Given the description of an element on the screen output the (x, y) to click on. 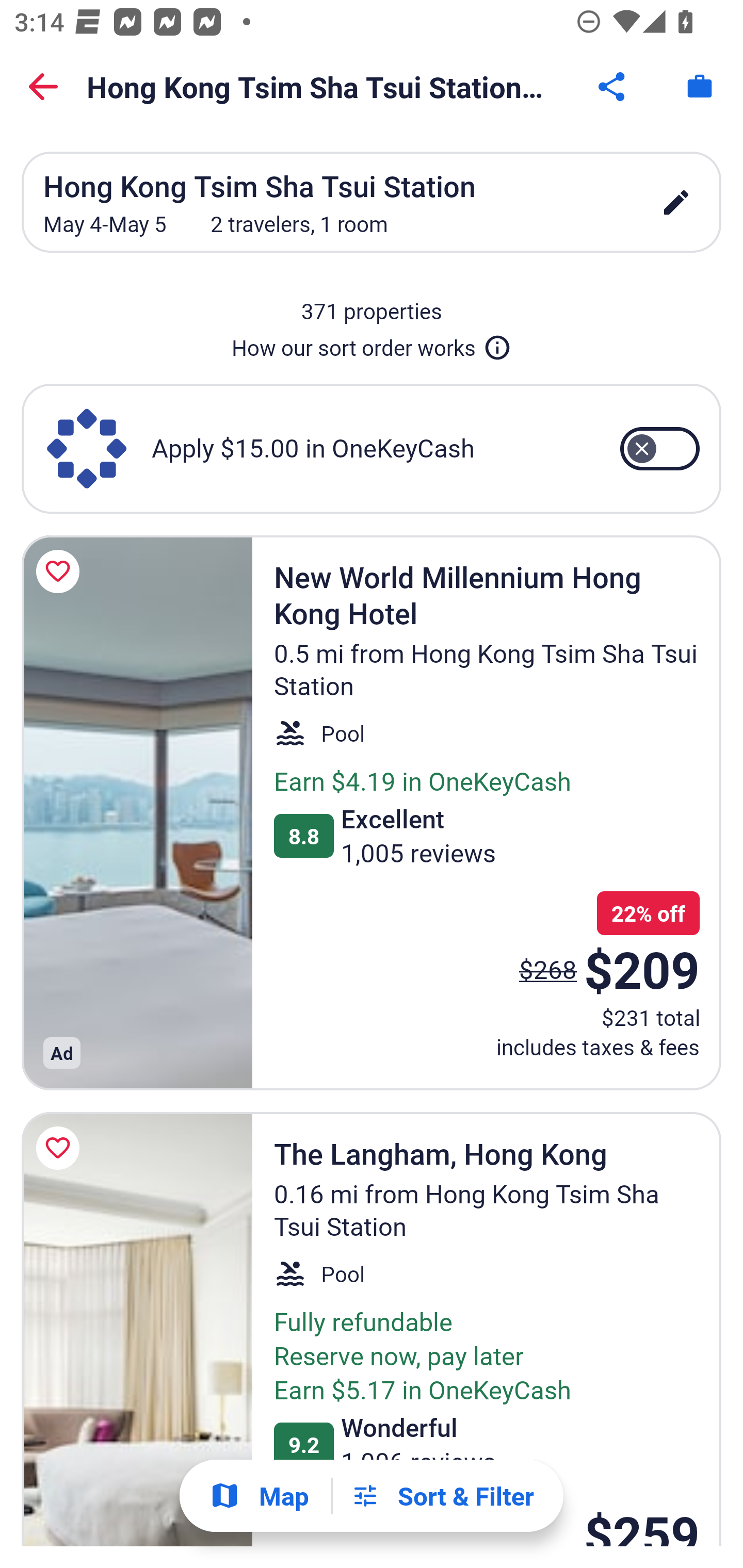
Back (43, 86)
Share Button (612, 86)
Trips. Button (699, 86)
How our sort order works (371, 344)
New World Millennium Hong Kong Hotel (136, 811)
$268 The price was $268 (547, 968)
Save The Langham, Hong Kong to a trip (61, 1148)
The Langham, Hong Kong (136, 1328)
Filters Sort & Filter Filters Button (442, 1495)
Show map Map Show map Button (258, 1495)
